Given the description of an element on the screen output the (x, y) to click on. 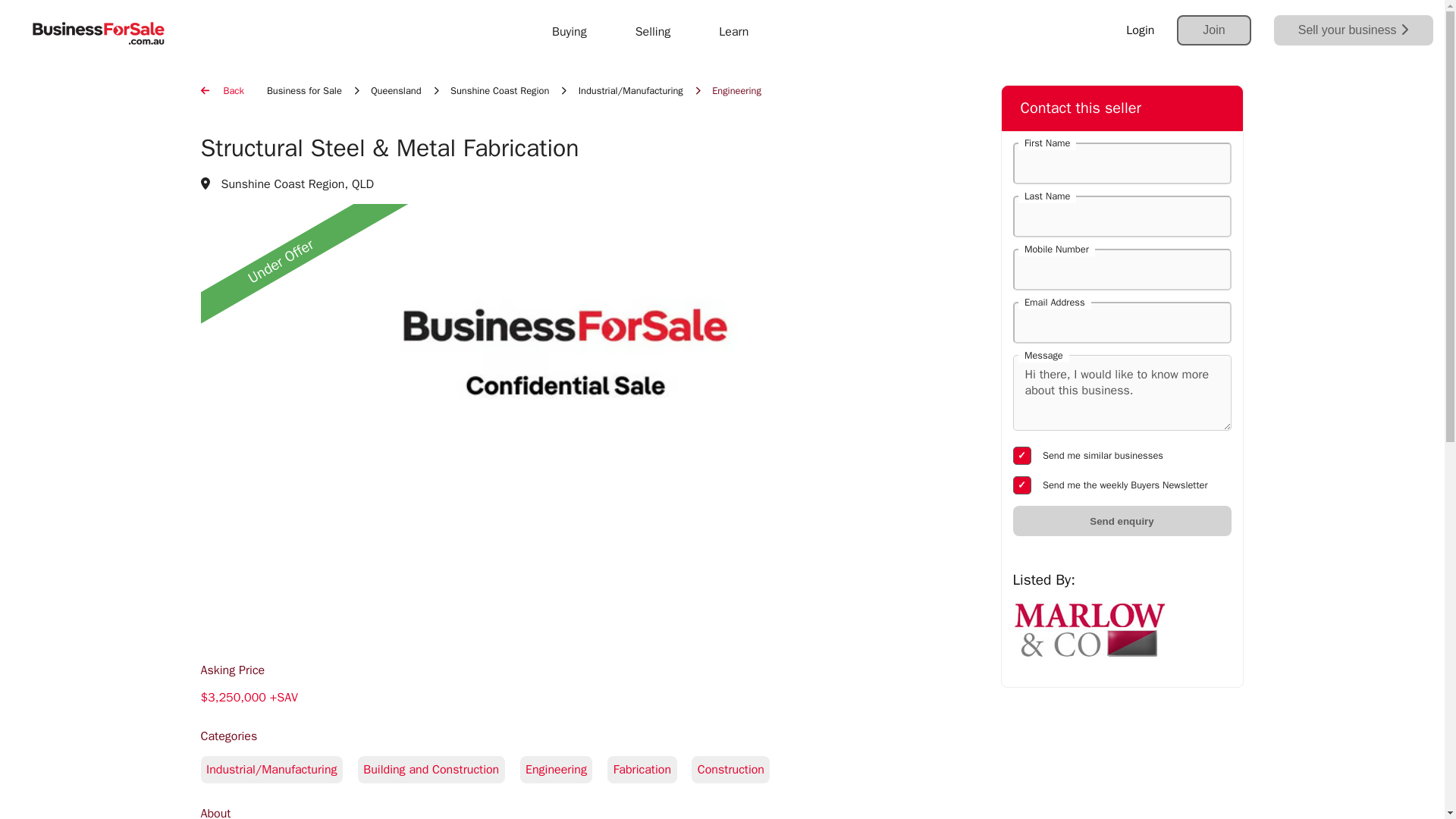
Sell your business (1353, 30)
Building and Construction (438, 768)
Business for Sale (304, 91)
Back (221, 91)
Engineering (563, 768)
Send enquiry (1122, 521)
Sunshine Coast Region (498, 91)
Queensland (395, 91)
Construction (735, 768)
Join (1213, 30)
